Given the description of an element on the screen output the (x, y) to click on. 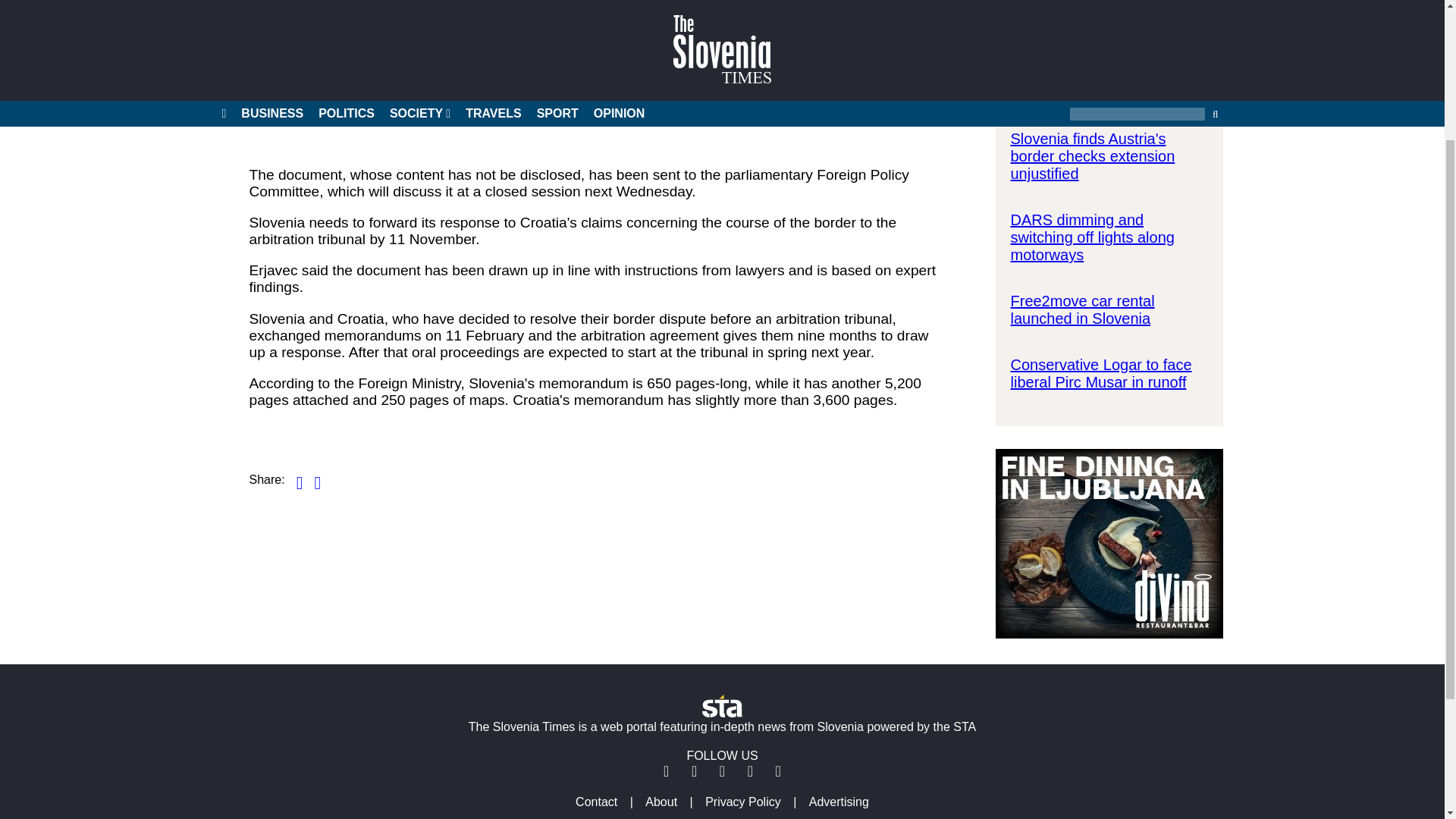
Free2move car rental launched in Slovenia (1082, 309)
DARS dimming and switching off lights along motorways (1091, 236)
The Slovenia Times under new ownership (1098, 83)
About (660, 801)
Contact (596, 801)
Privacy Policy (742, 801)
Advertising (838, 801)
Slovenia finds Austria's border checks extension unjustified (1092, 155)
Conservative Logar to face liberal Pirc Musar in runoff (1100, 373)
